Given the description of an element on the screen output the (x, y) to click on. 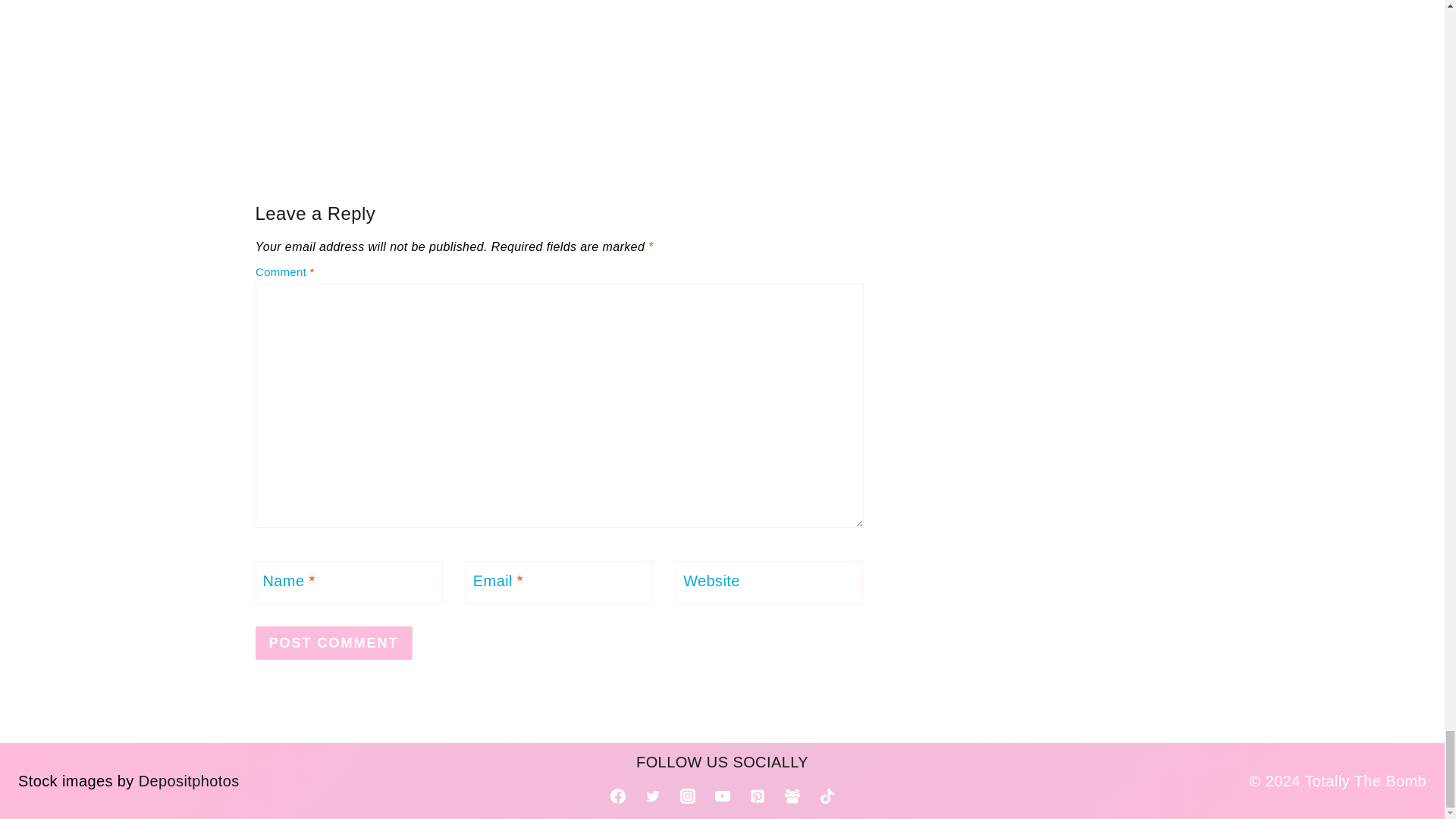
Post Comment (333, 642)
